Given the description of an element on the screen output the (x, y) to click on. 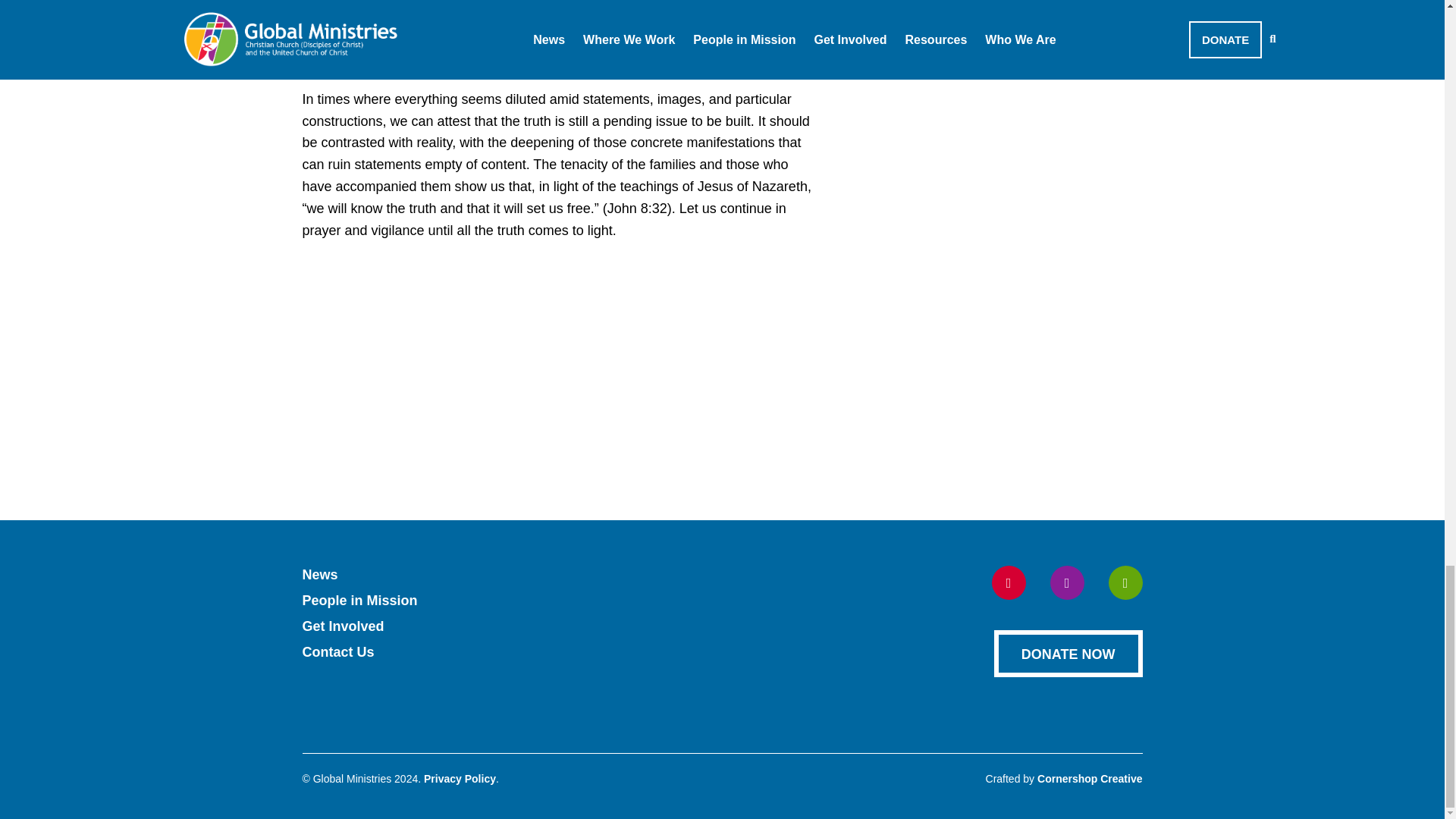
Follow us on Twitter (1066, 582)
Follow us on Vimeo (1125, 582)
Follow us on Facebook (1008, 582)
